Given the description of an element on the screen output the (x, y) to click on. 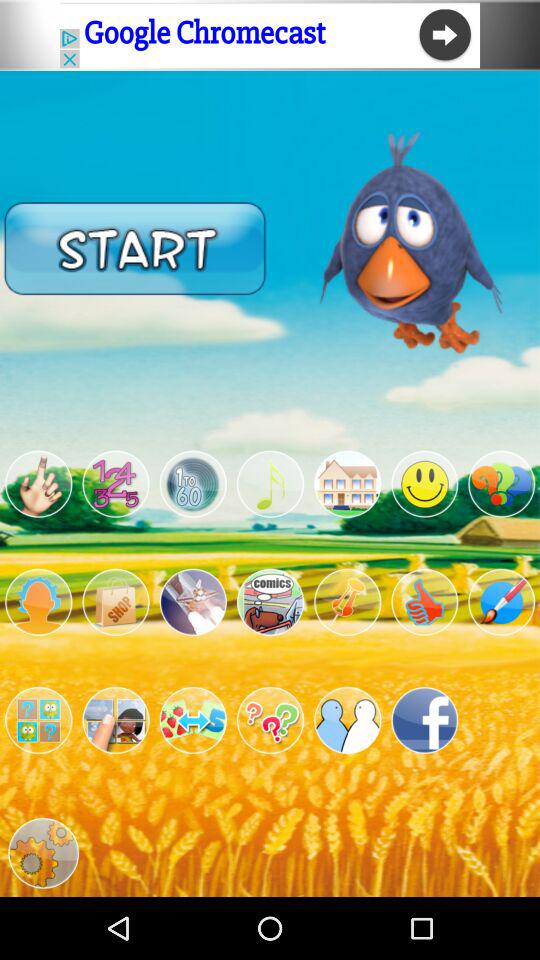
play game mode (347, 484)
